Given the description of an element on the screen output the (x, y) to click on. 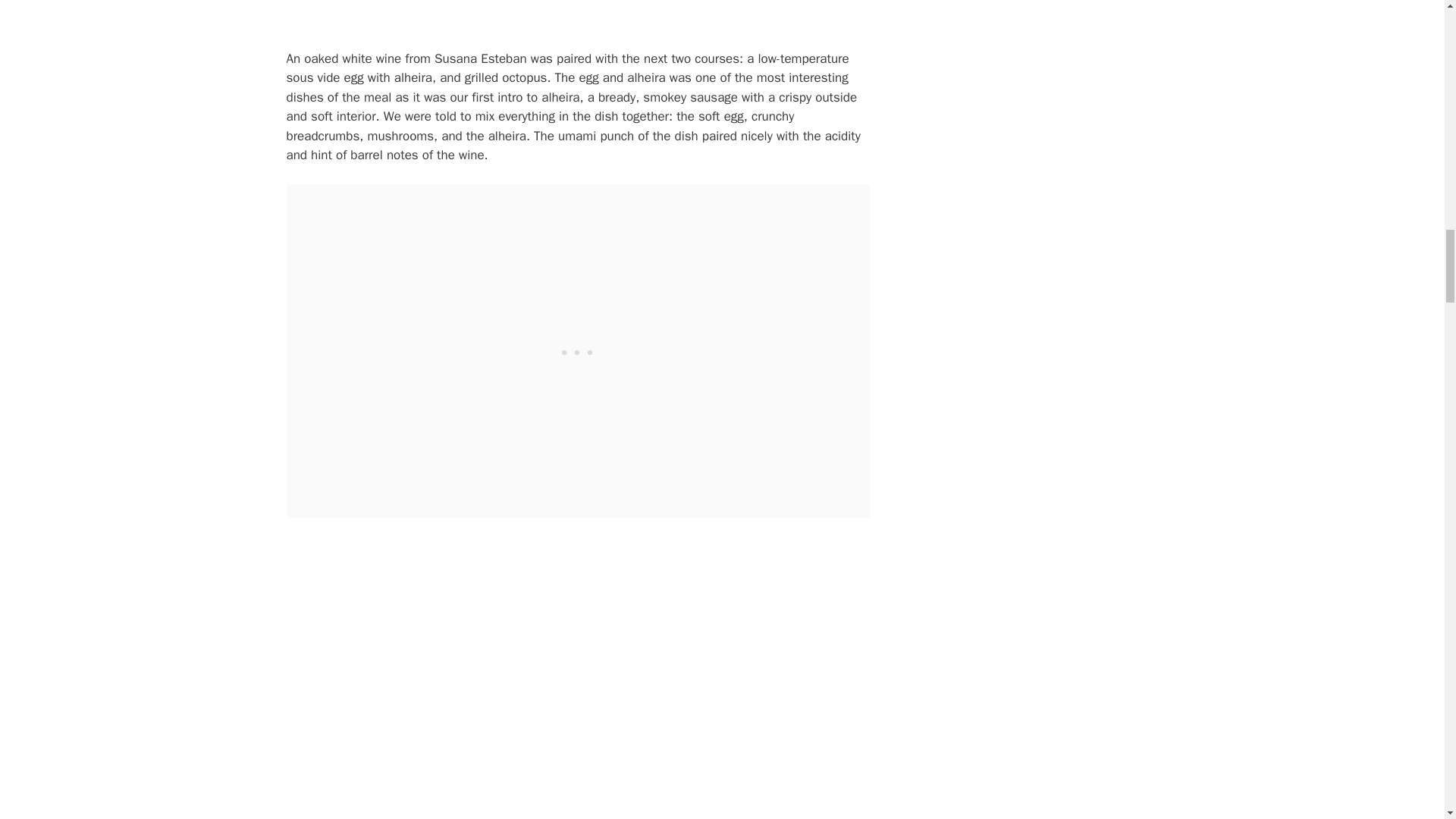
Mushroom and Egg Course (577, 15)
